Given the description of an element on the screen output the (x, y) to click on. 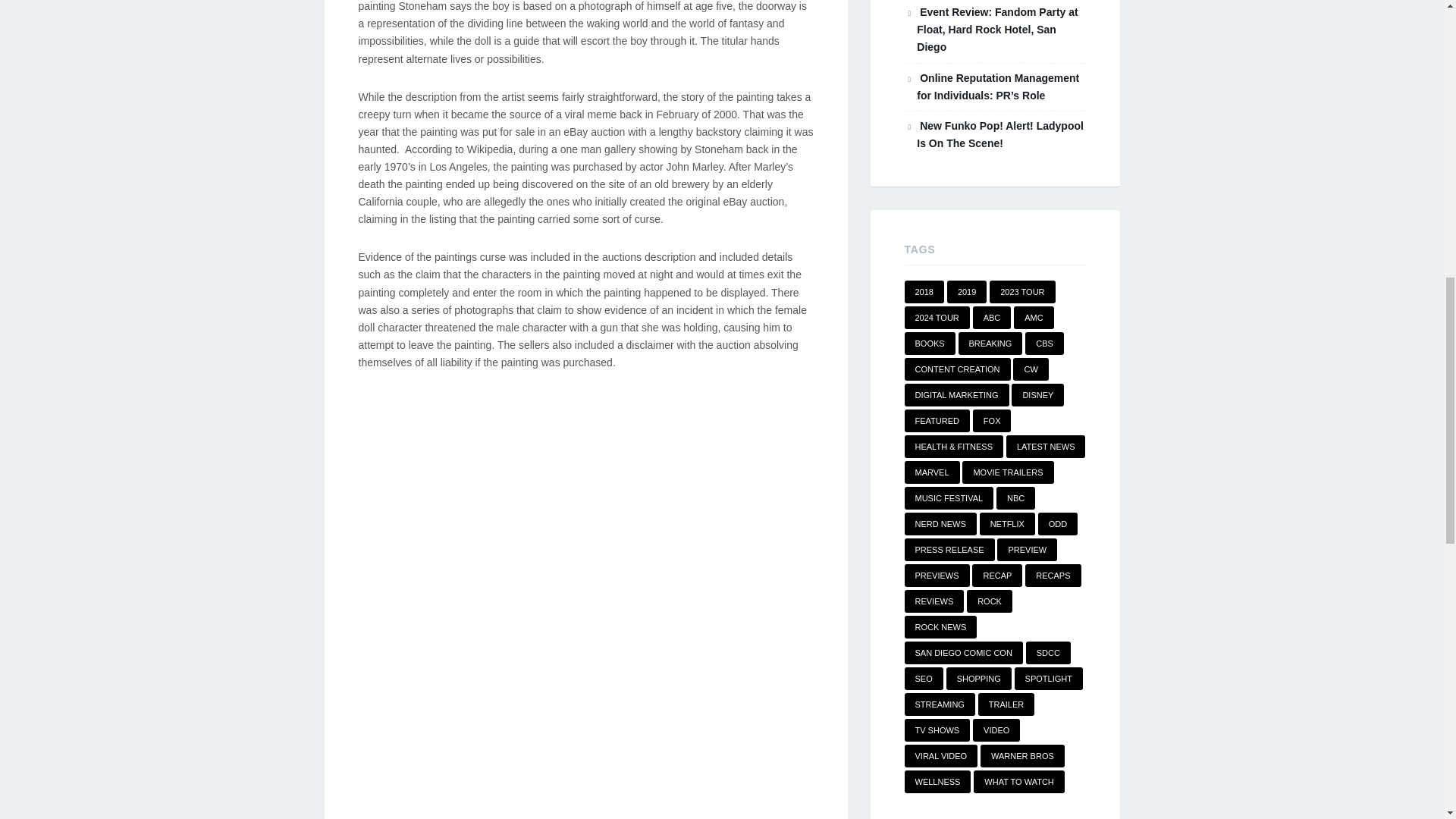
2018 (923, 291)
CBS (1044, 343)
BOOKS (929, 343)
CW (1030, 368)
2023 TOUR (1022, 291)
2024 TOUR (936, 317)
DIGITAL MARKETING (956, 395)
CONTENT CREATION (957, 368)
New Funko Pop! Alert! Ladypool Is On The Scene! (1000, 134)
BREAKING (990, 343)
